Given the description of an element on the screen output the (x, y) to click on. 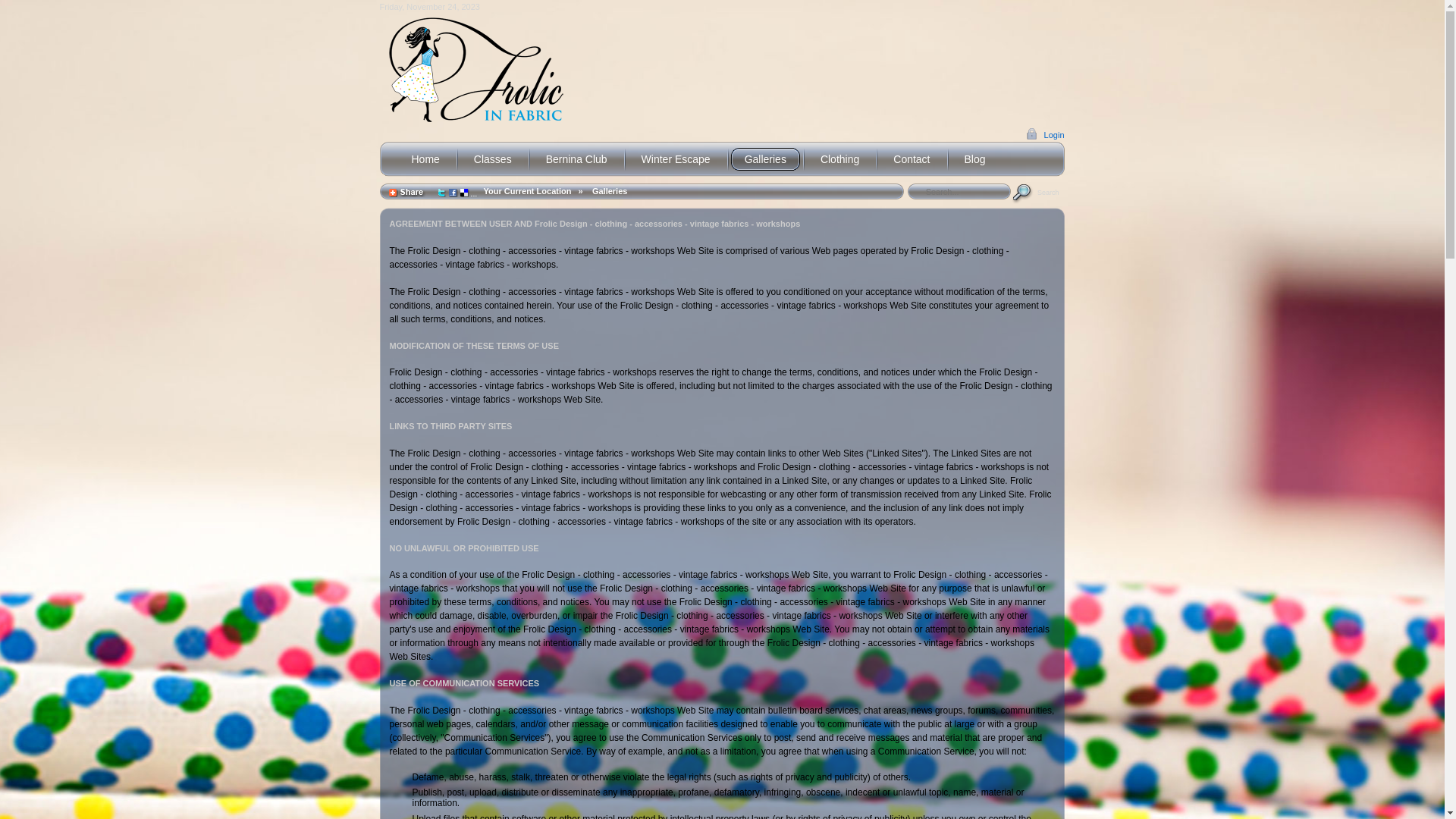
Login Element type: text (1044, 134)
Galleries Element type: text (609, 190)
Classes Element type: text (492, 158)
Winter Escape Element type: text (675, 158)
Clothing Element type: text (839, 158)
Blog Element type: text (974, 158)
Galleries Element type: text (765, 158)
Bernina Club Element type: text (576, 158)
Home Element type: text (424, 158)
Search Element type: text (1037, 191)
Contact Element type: text (911, 158)
